Given the description of an element on the screen output the (x, y) to click on. 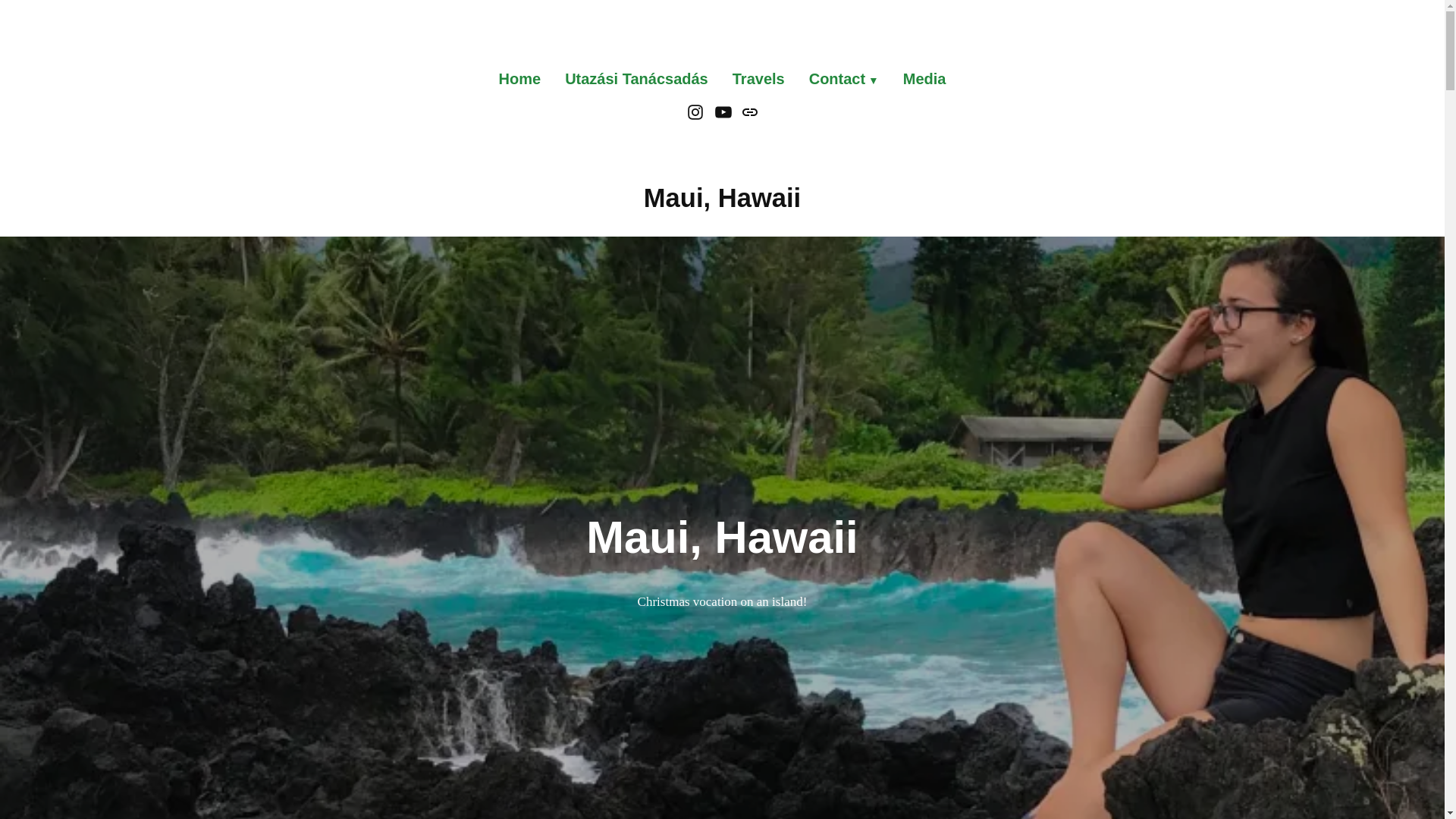
Tiktok (747, 110)
Home (526, 79)
Contact (843, 79)
Media (918, 79)
Instagram (697, 110)
Travels (758, 79)
